Given the description of an element on the screen output the (x, y) to click on. 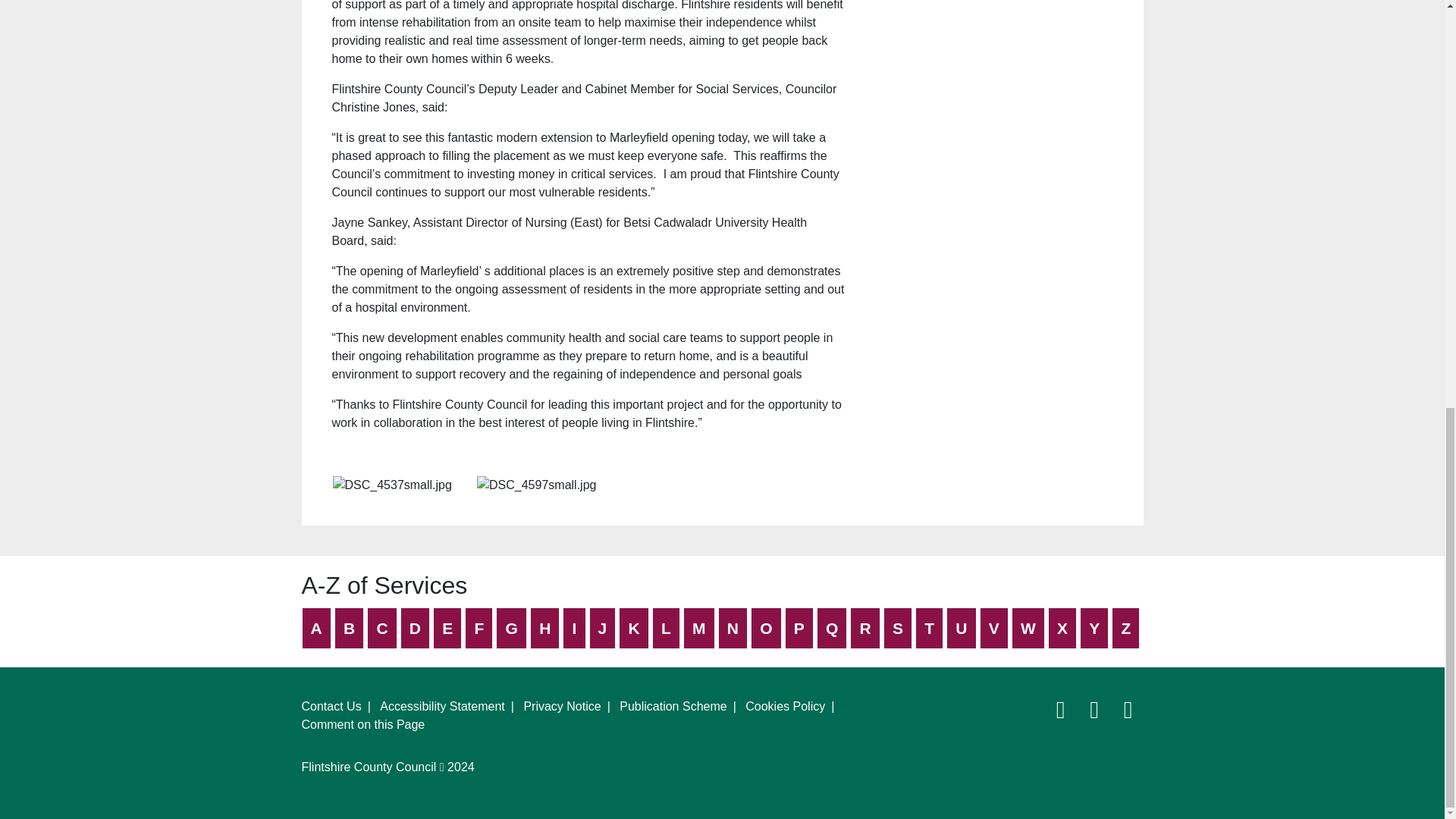
Accessibility Statement (442, 706)
Contact Us (331, 706)
